Given the description of an element on the screen output the (x, y) to click on. 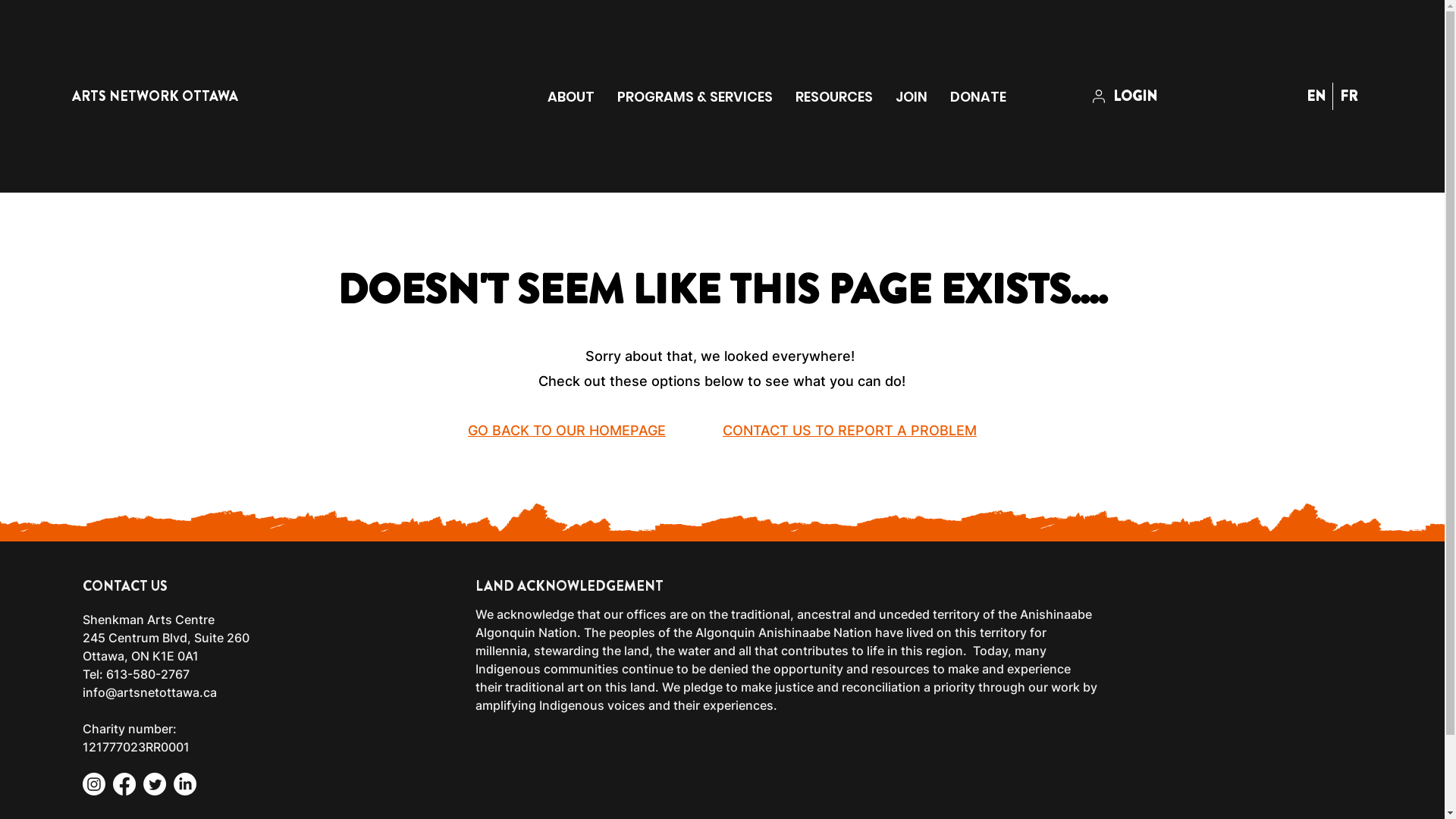
EN Element type: text (1315, 95)
FR Element type: text (1348, 95)
CONTACT US TO REPORT A PROBLEM Element type: text (849, 430)
LOGIN Element type: text (1126, 95)
ARTS NETWORK OTTAWA Element type: text (155, 96)
DONATE Element type: text (977, 96)
GO BACK TO OUR HOMEPAGE Element type: text (566, 430)
                Element type: text (693, 430)
